Given the description of an element on the screen output the (x, y) to click on. 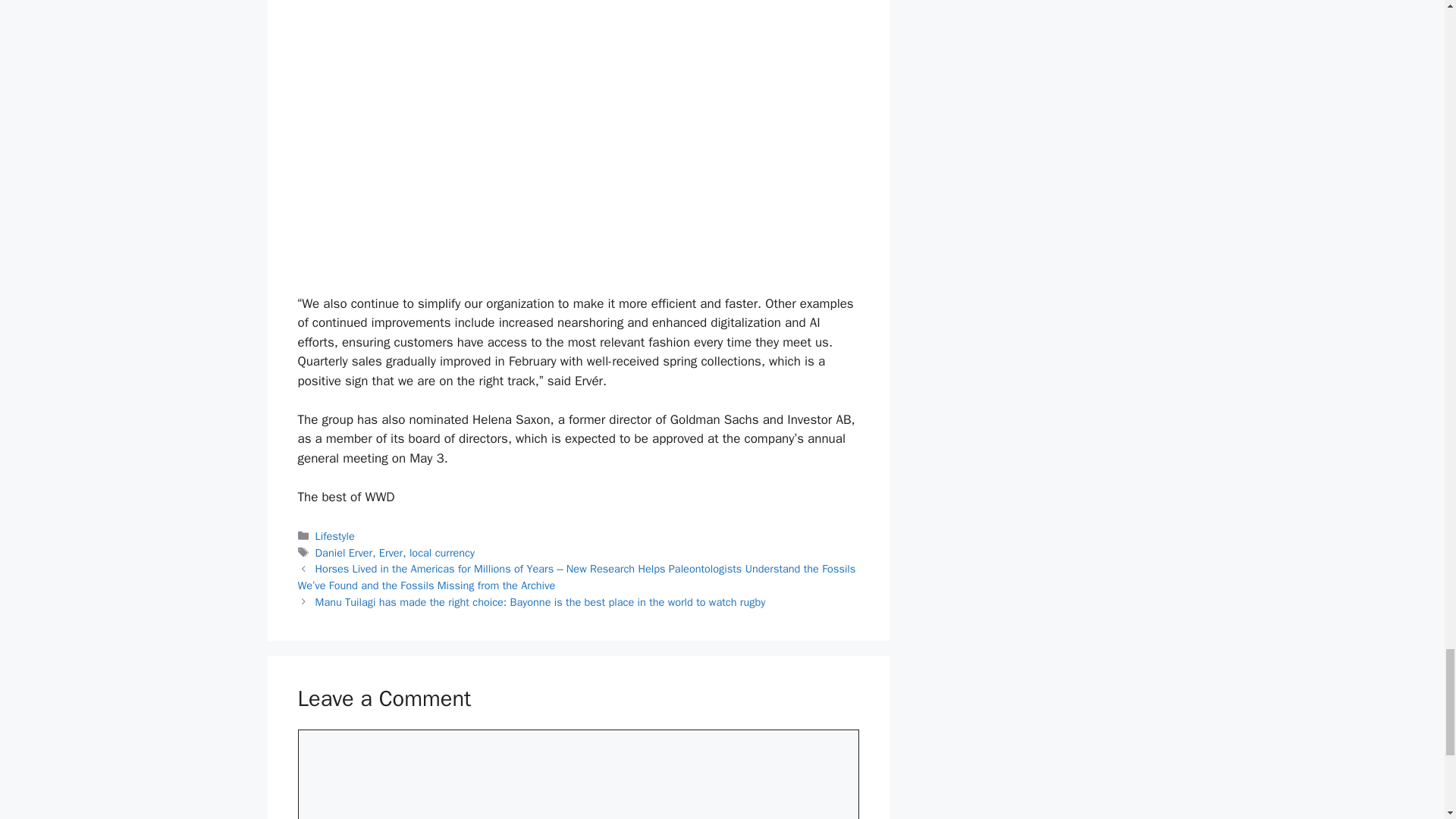
Lifestyle (335, 535)
local currency (441, 552)
Erver (390, 552)
Daniel Erver (343, 552)
